Given the description of an element on the screen output the (x, y) to click on. 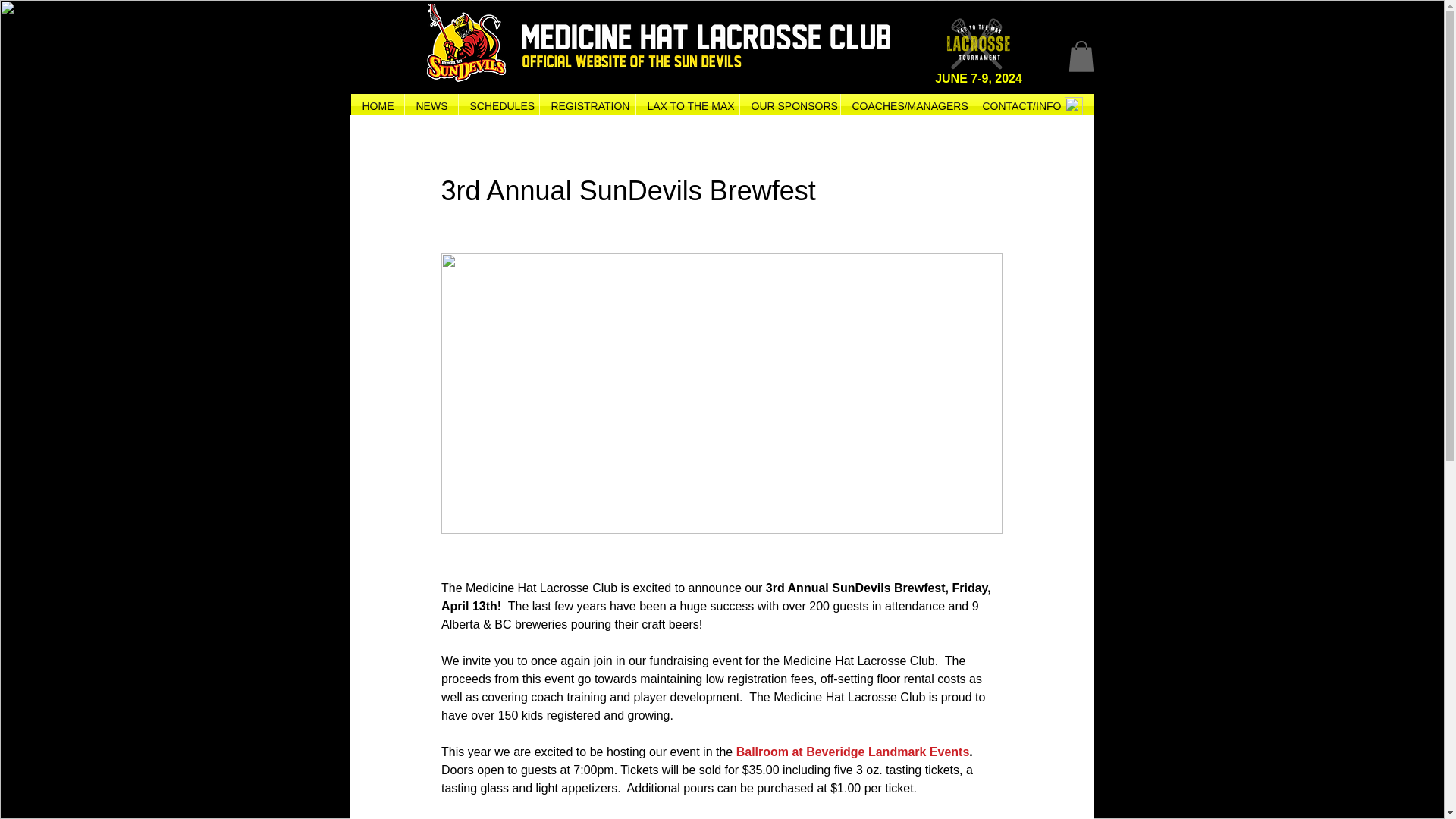
LAX TO THE MAX (686, 105)
Ballroom at Beveridge Landmark Events (852, 751)
SCHEDULES (498, 105)
OUR SPONSORS (789, 105)
HOME (376, 105)
REGISTRATION (587, 105)
NEWS (431, 105)
